Given the description of an element on the screen output the (x, y) to click on. 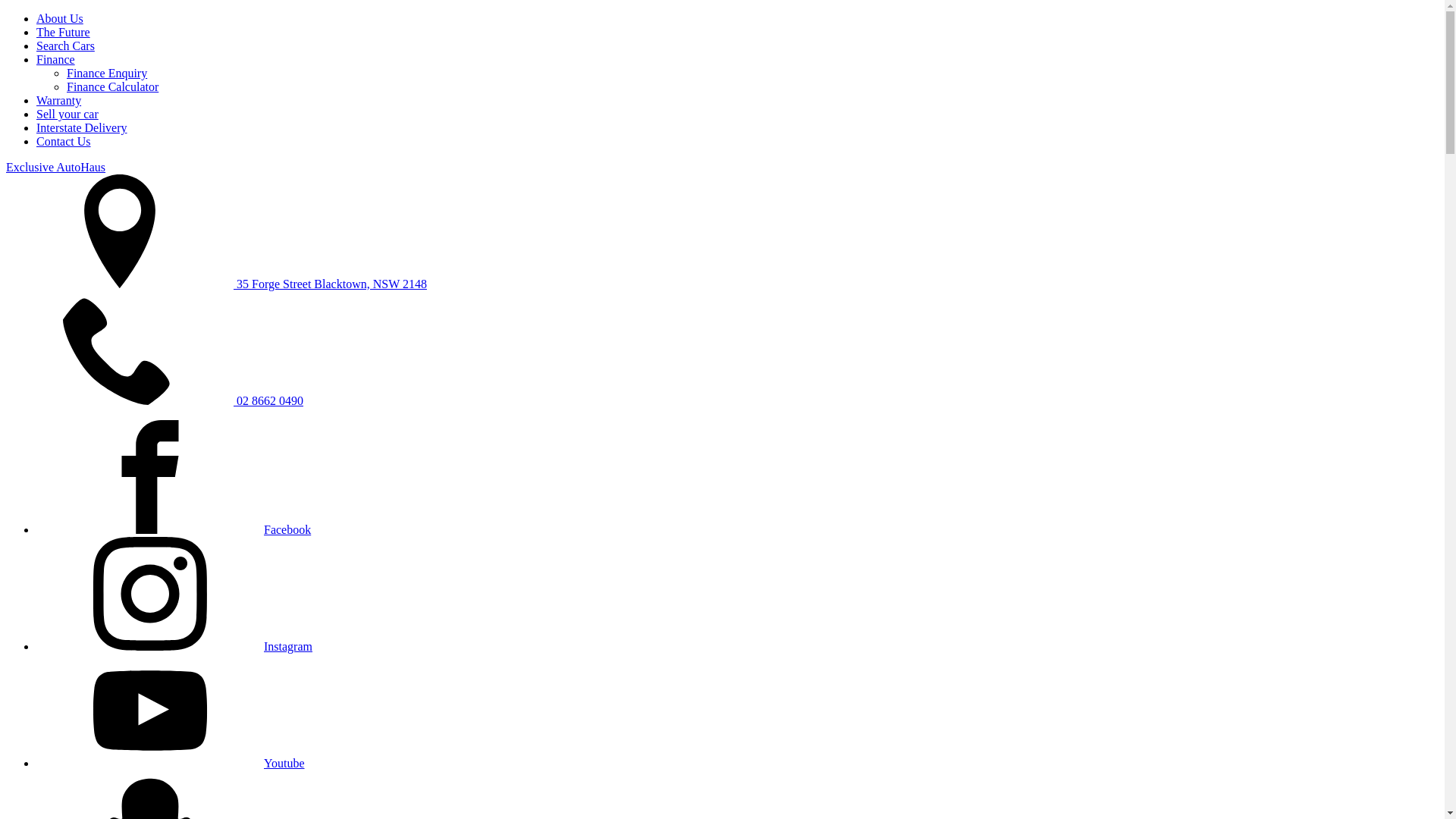
The Future Element type: text (63, 31)
Facebook Element type: text (173, 529)
Search Cars Element type: text (65, 45)
35 Forge Street Blacktown, NSW 2148 Element type: text (216, 283)
Finance Calculator Element type: text (112, 86)
Exclusive AutoHaus Element type: text (55, 166)
02 8662 0490 Element type: text (154, 400)
Finance Element type: text (55, 59)
Contact Us Element type: text (63, 140)
Sell your car Element type: text (67, 113)
Youtube Element type: text (170, 762)
About Us Element type: text (59, 18)
Finance Enquiry Element type: text (106, 72)
Warranty Element type: text (58, 100)
Instagram Element type: text (174, 646)
Interstate Delivery Element type: text (81, 127)
